Given the description of an element on the screen output the (x, y) to click on. 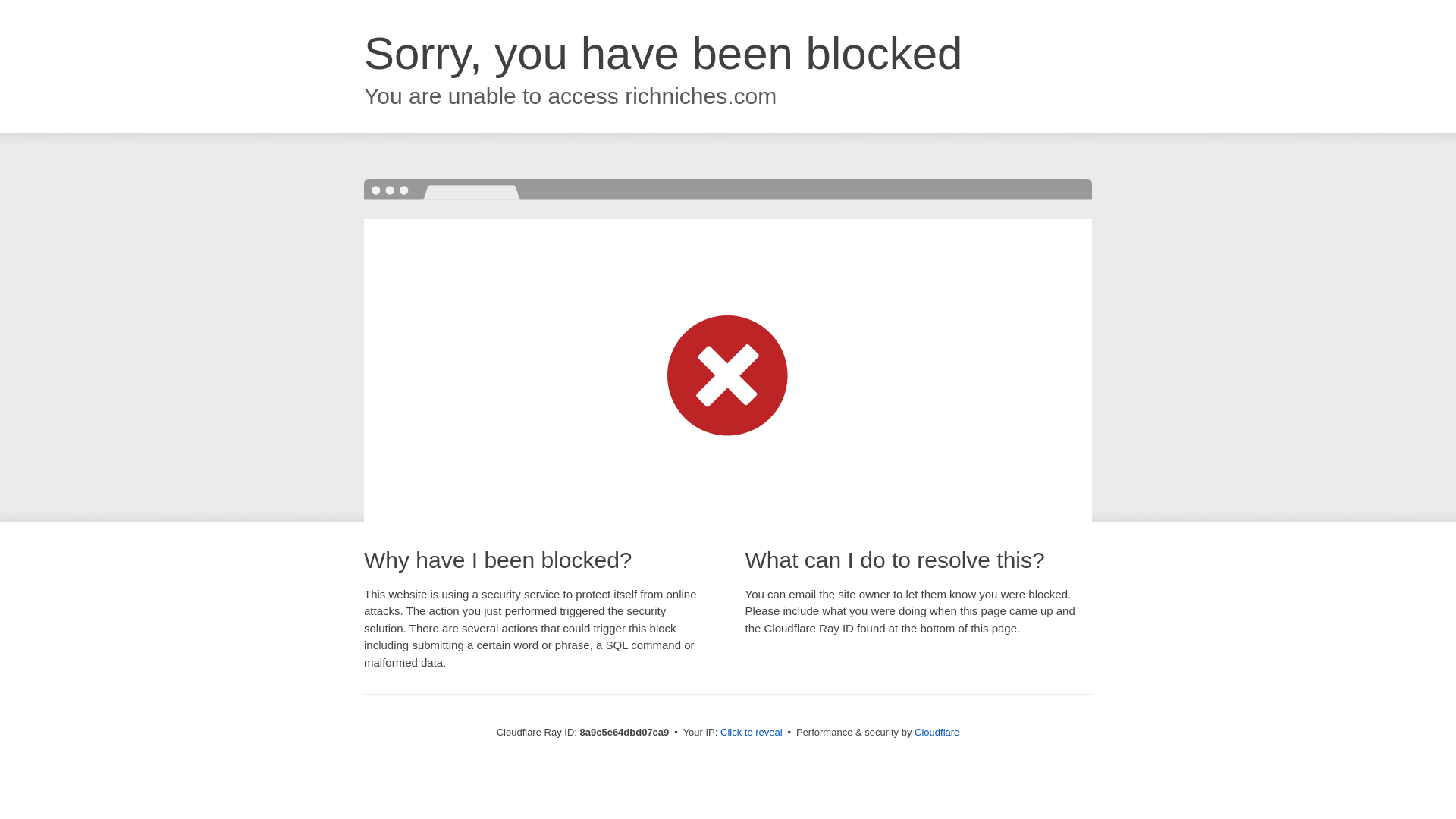
Click to reveal (751, 732)
Cloudflare (936, 731)
